Given the description of an element on the screen output the (x, y) to click on. 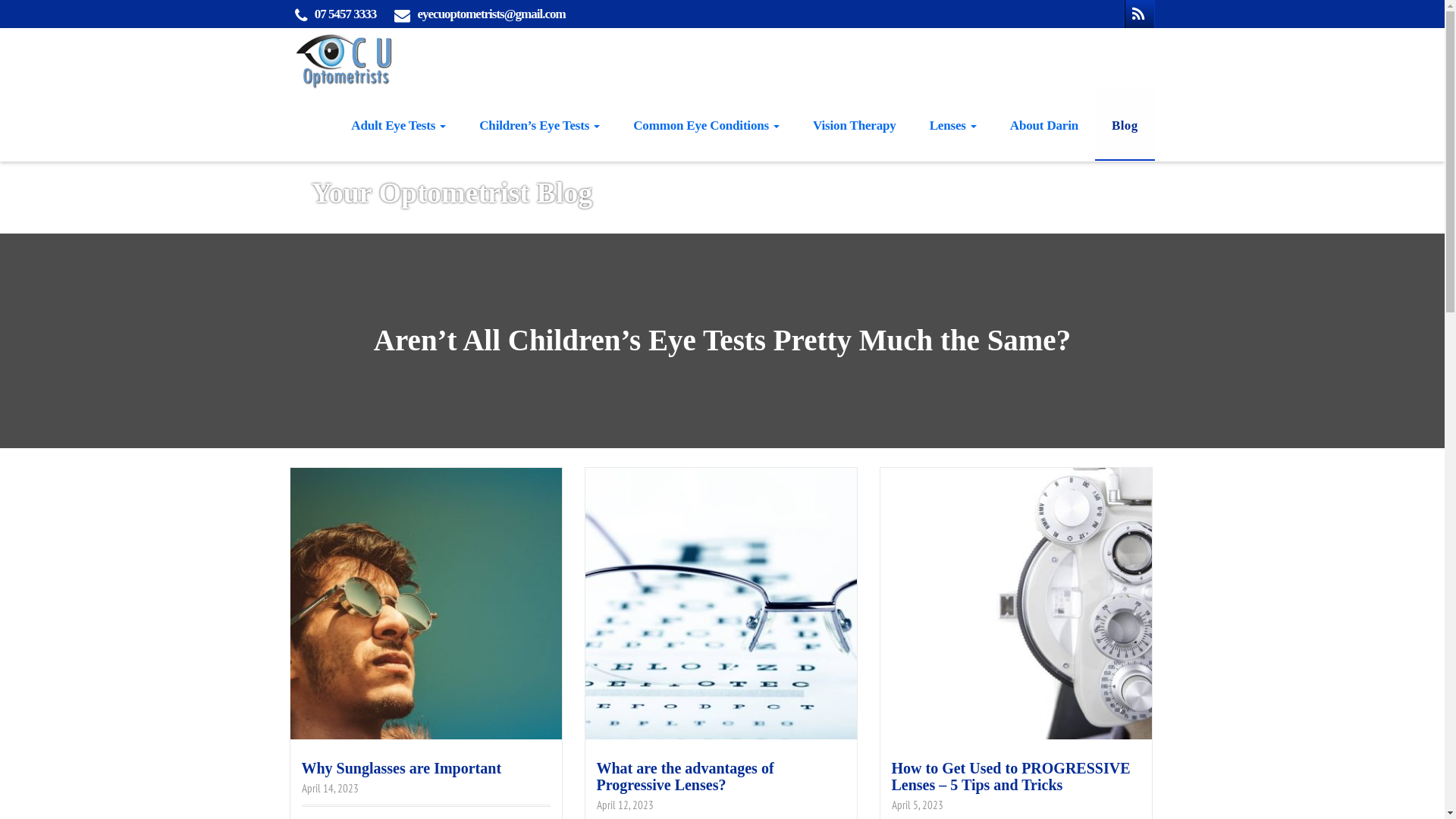
Common Eye Conditions Element type: text (706, 124)
Why Sunglasses are Important Element type: text (401, 767)
Blog Element type: text (1124, 124)
Eye CU Optometrist Element type: hover (343, 57)
Vision Therapy Element type: text (854, 124)
Adult Eye Tests Element type: text (398, 124)
About Darin Element type: text (1044, 124)
07 5457 3333 Element type: text (345, 13)
Lenses Element type: text (953, 124)
eyecuoptometrists@gmail.com Element type: text (490, 13)
What are the advantages of Progressive Lenses? Element type: text (684, 776)
